Given the description of an element on the screen output the (x, y) to click on. 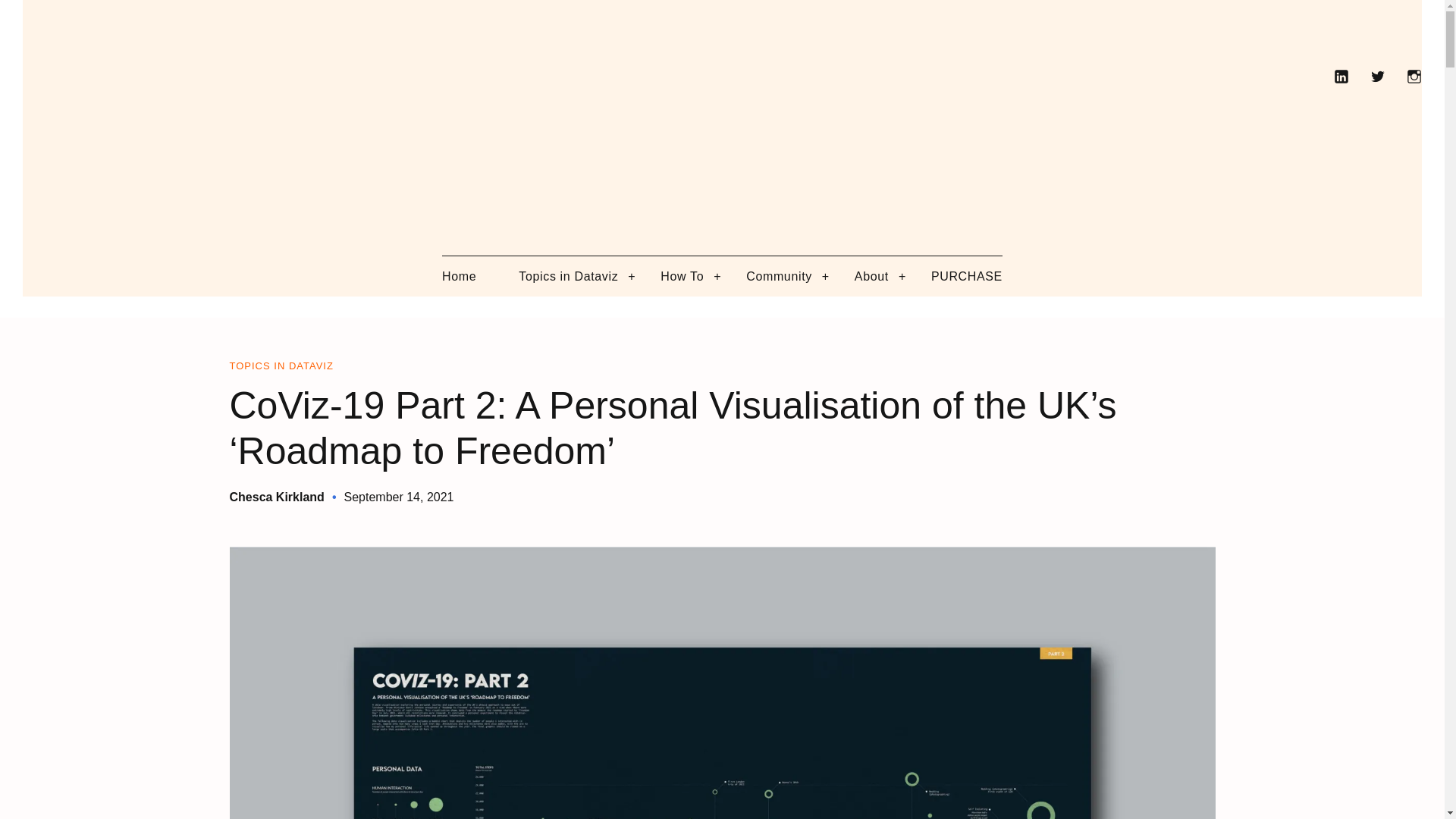
How To (682, 276)
Instagram (1414, 75)
September 14, 2021 (398, 496)
Twitter (1378, 75)
Chesca Kirkland (275, 496)
LinkedIn (1341, 75)
Topics in Dataviz (567, 276)
TOPICS IN DATAVIZ (280, 366)
Topics in Dataviz (280, 366)
Community (778, 276)
PURCHASE (967, 276)
